Given the description of an element on the screen output the (x, y) to click on. 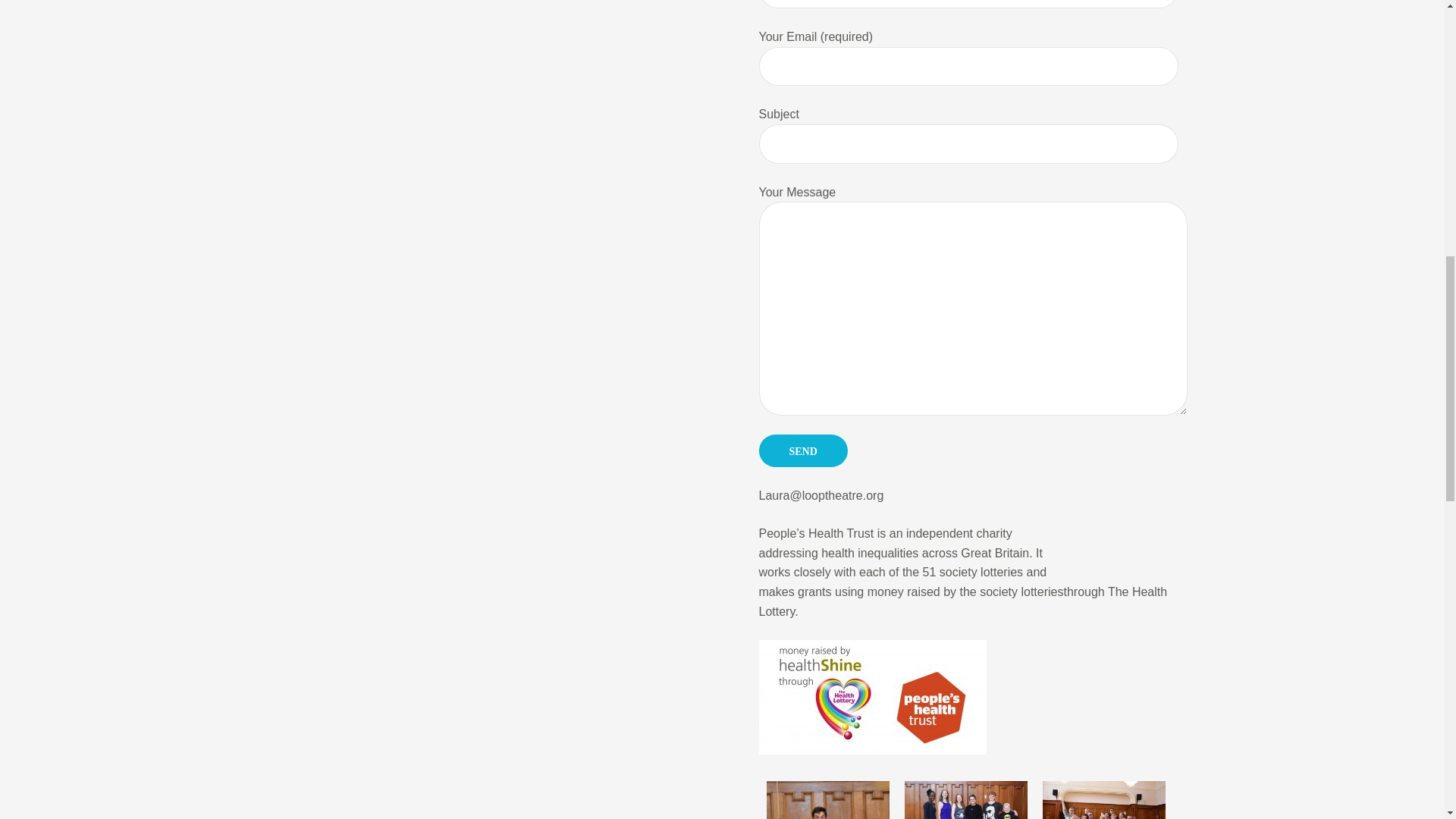
Send (802, 450)
